Given the description of an element on the screen output the (x, y) to click on. 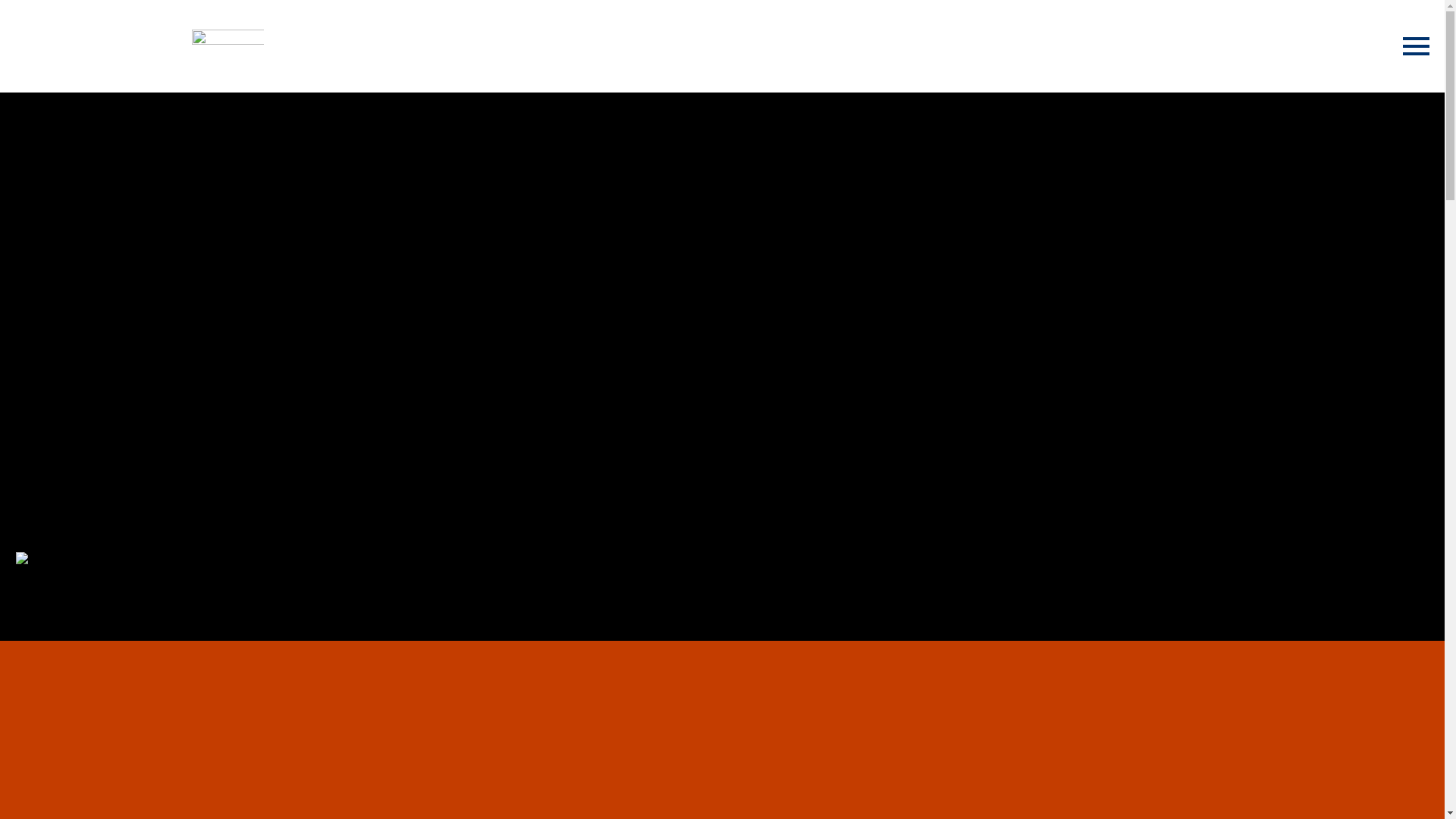
Main Menu (1416, 46)
Ocular Therapeutix (226, 45)
